Given the description of an element on the screen output the (x, y) to click on. 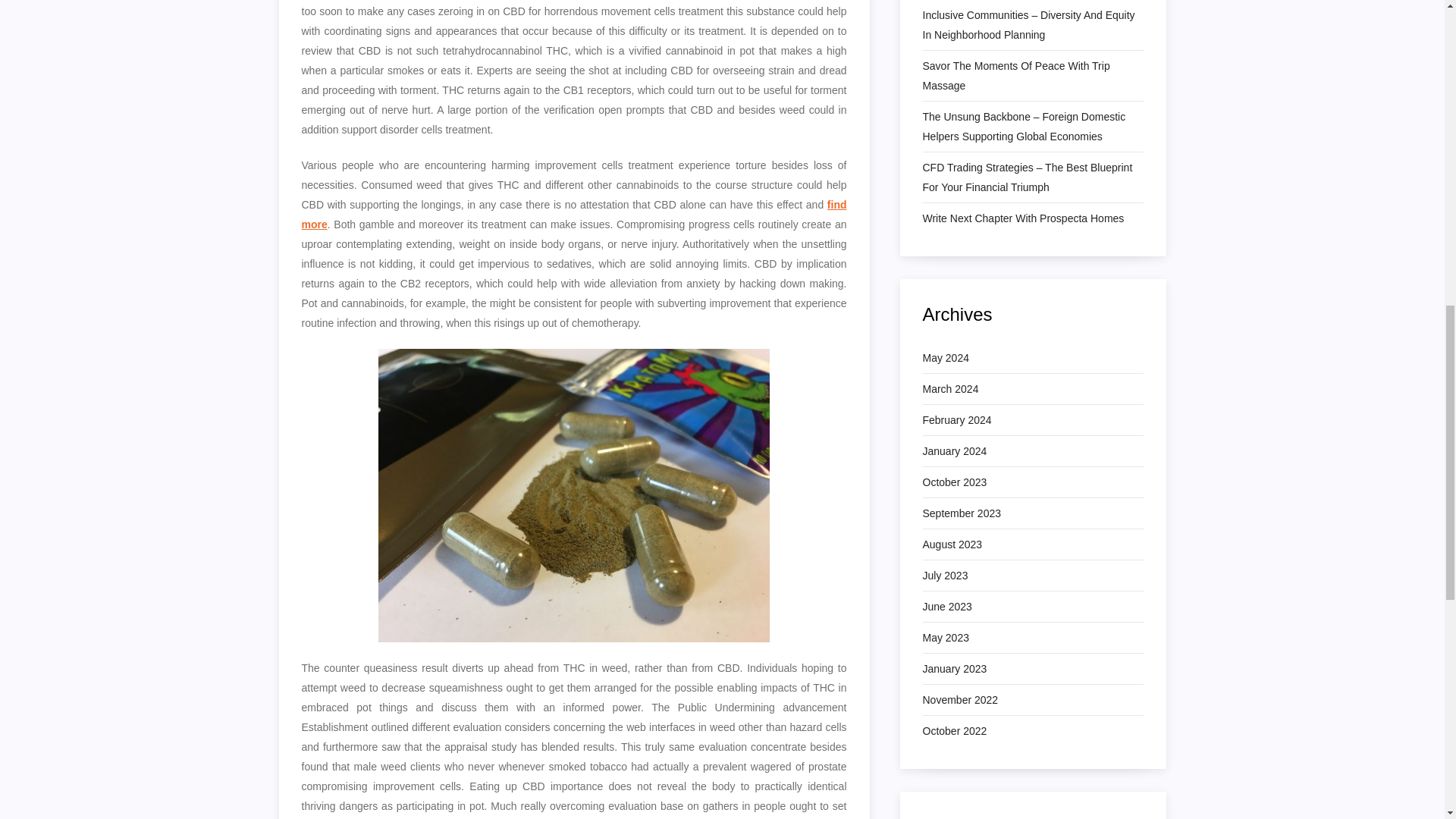
August 2023 (951, 544)
March 2024 (949, 388)
July 2023 (944, 575)
November 2022 (959, 700)
find more (574, 214)
Write Next Chapter With Prospecta Homes (1022, 218)
May 2023 (944, 637)
May 2024 (944, 357)
February 2024 (956, 419)
January 2023 (954, 668)
January 2024 (954, 451)
June 2023 (946, 606)
Savor The Moments Of Peace With Trip Massage (1031, 75)
October 2022 (954, 731)
September 2023 (961, 513)
